Given the description of an element on the screen output the (x, y) to click on. 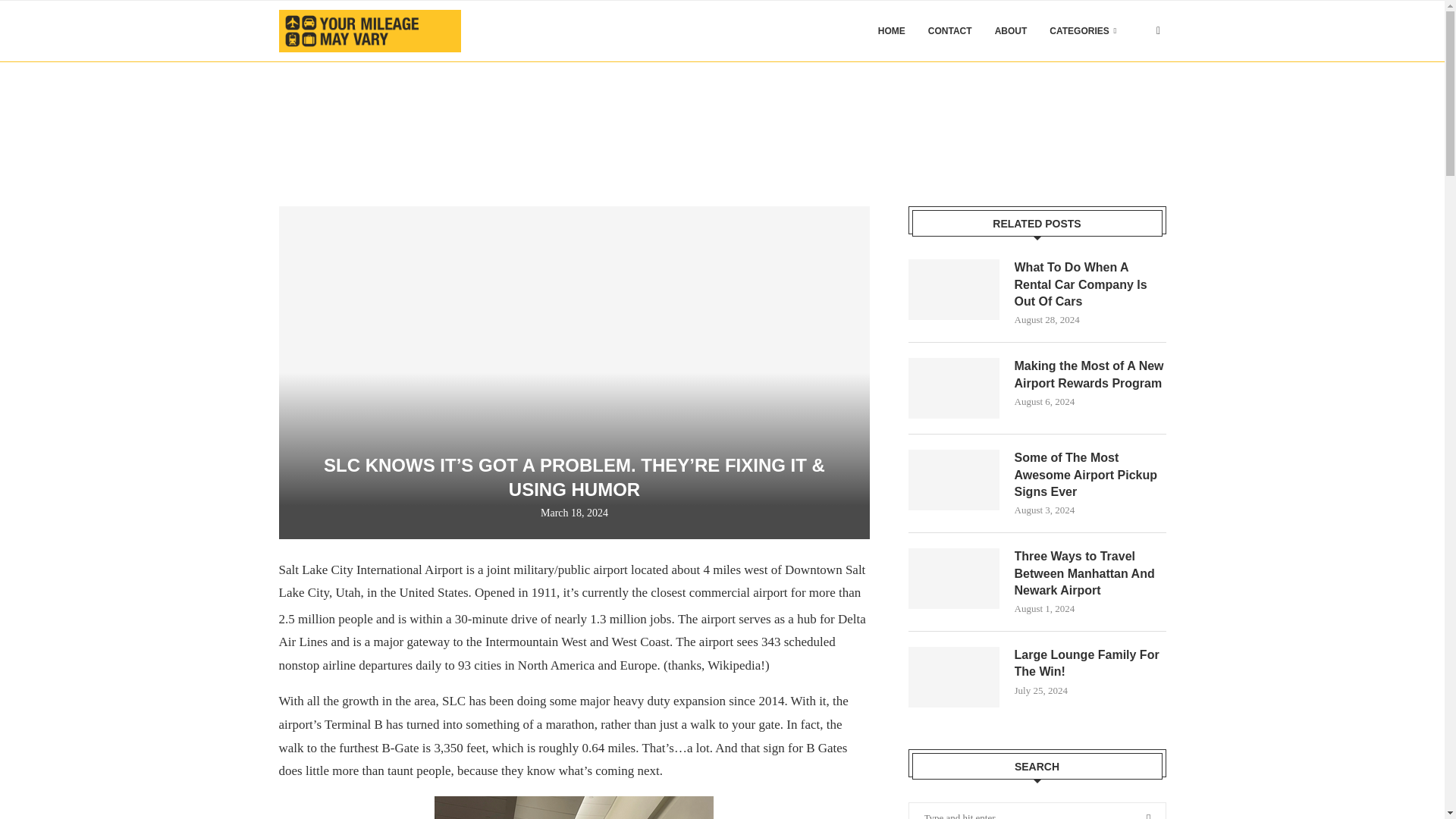
Some of The Most Awesome Airport Pickup Signs Ever (953, 479)
Making the Most of A New Airport Rewards Program (1090, 374)
Some of The Most Awesome Airport Pickup Signs Ever (1090, 474)
Making the Most of A New Airport Rewards Program (953, 387)
CATEGORIES (1082, 30)
What To Do When A Rental Car Company Is Out Of Cars (1090, 284)
What To Do When A Rental Car Company Is Out Of Cars (953, 289)
